Given the description of an element on the screen output the (x, y) to click on. 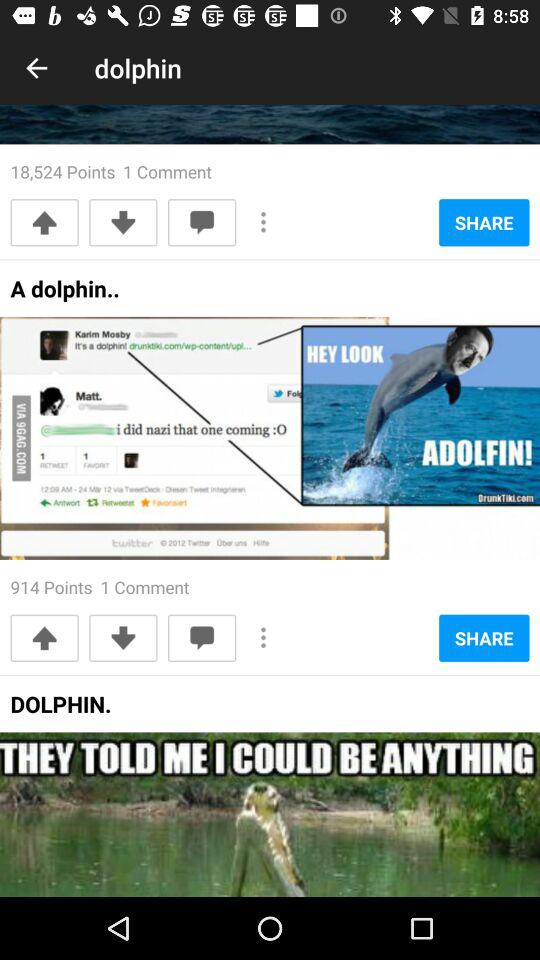
turn on the icon to the left of dolphin item (36, 68)
